Given the description of an element on the screen output the (x, y) to click on. 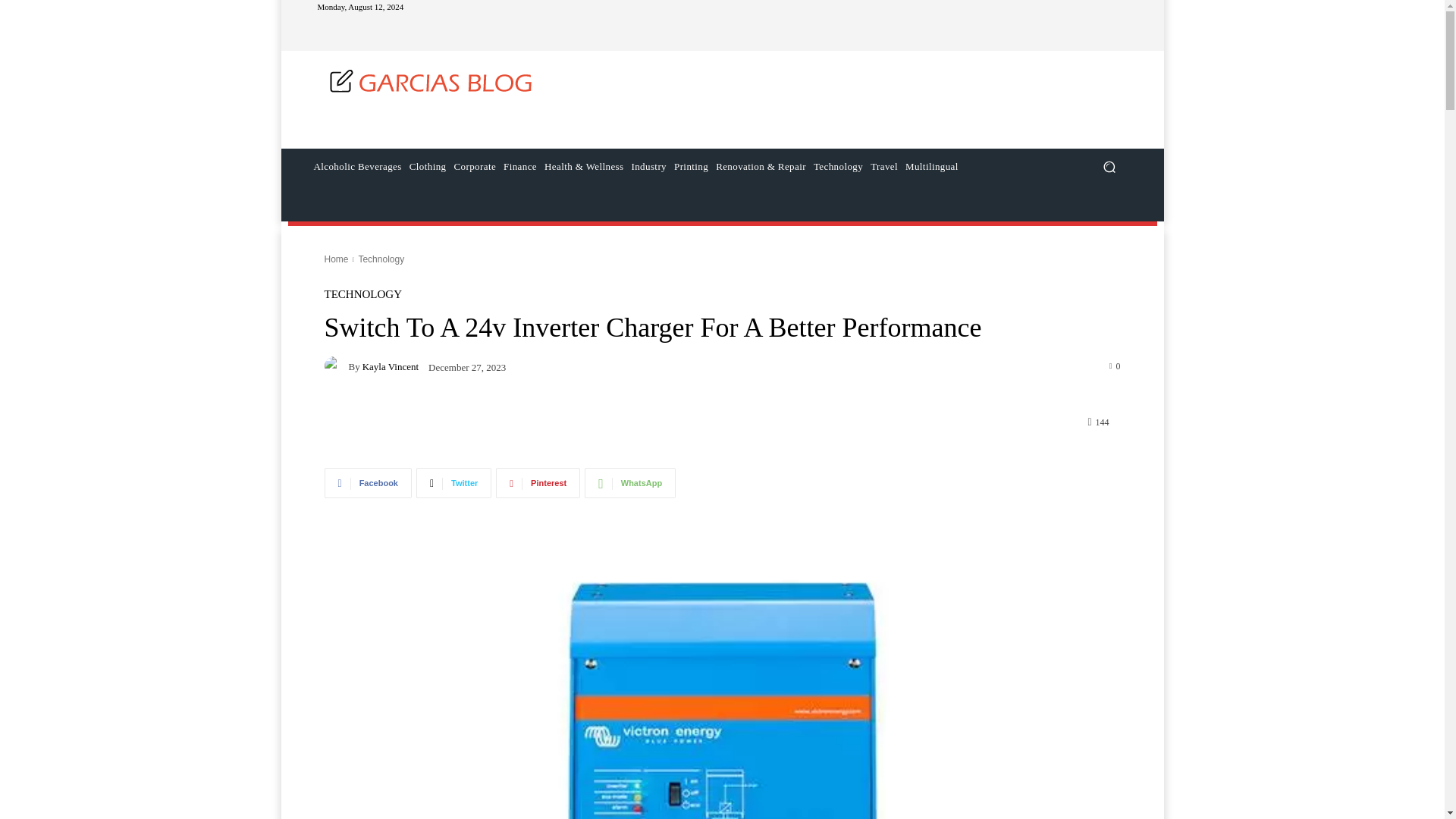
Travel (883, 166)
Industry (648, 166)
Kayla Vincent (336, 365)
View all posts in Technology (381, 258)
Printing (690, 166)
Pinterest (537, 482)
Finance (519, 166)
Twitter (454, 482)
Technology (837, 166)
Multilingual (931, 166)
